Given the description of an element on the screen output the (x, y) to click on. 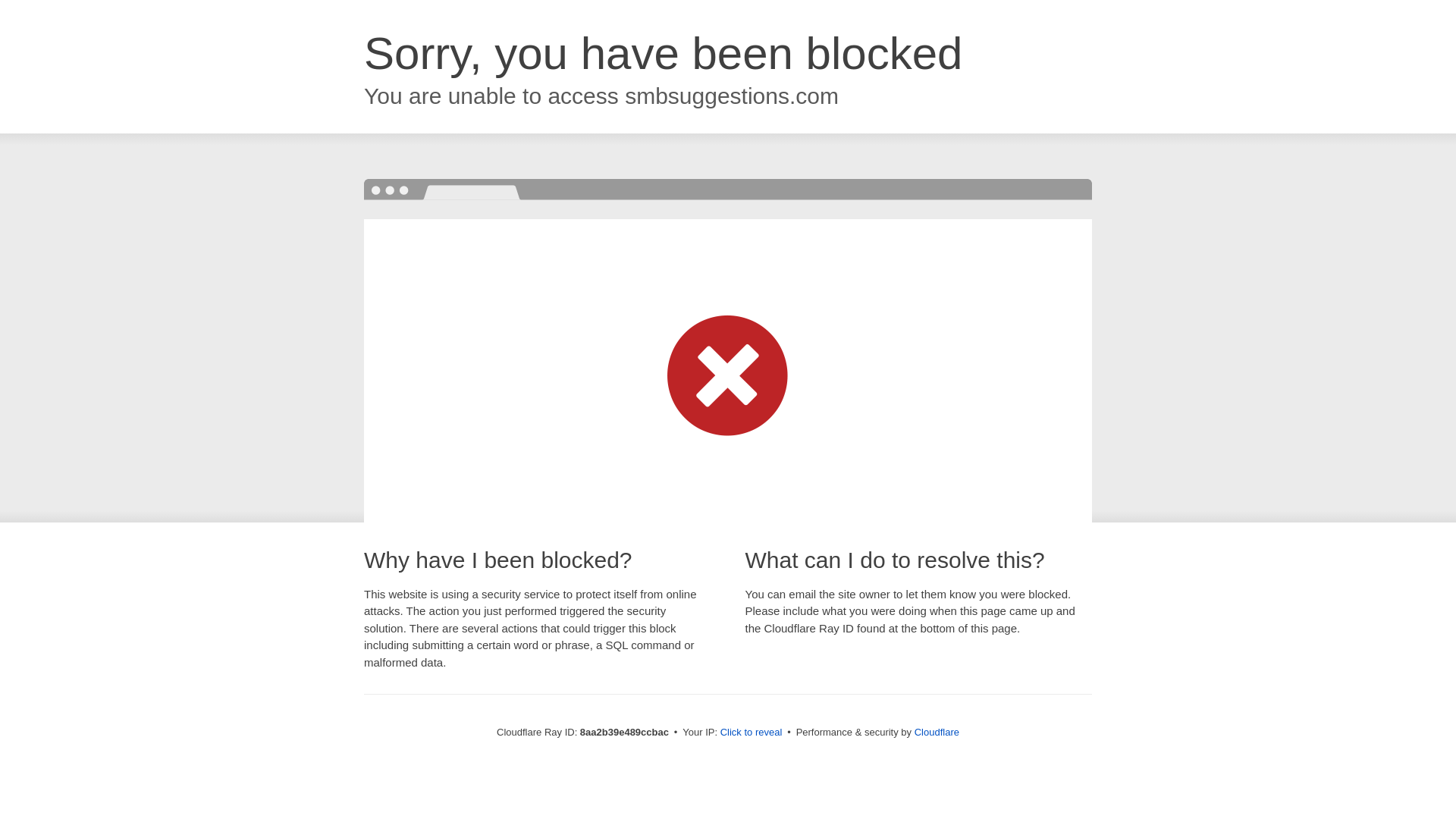
Cloudflare (936, 731)
Click to reveal (751, 732)
